Given the description of an element on the screen output the (x, y) to click on. 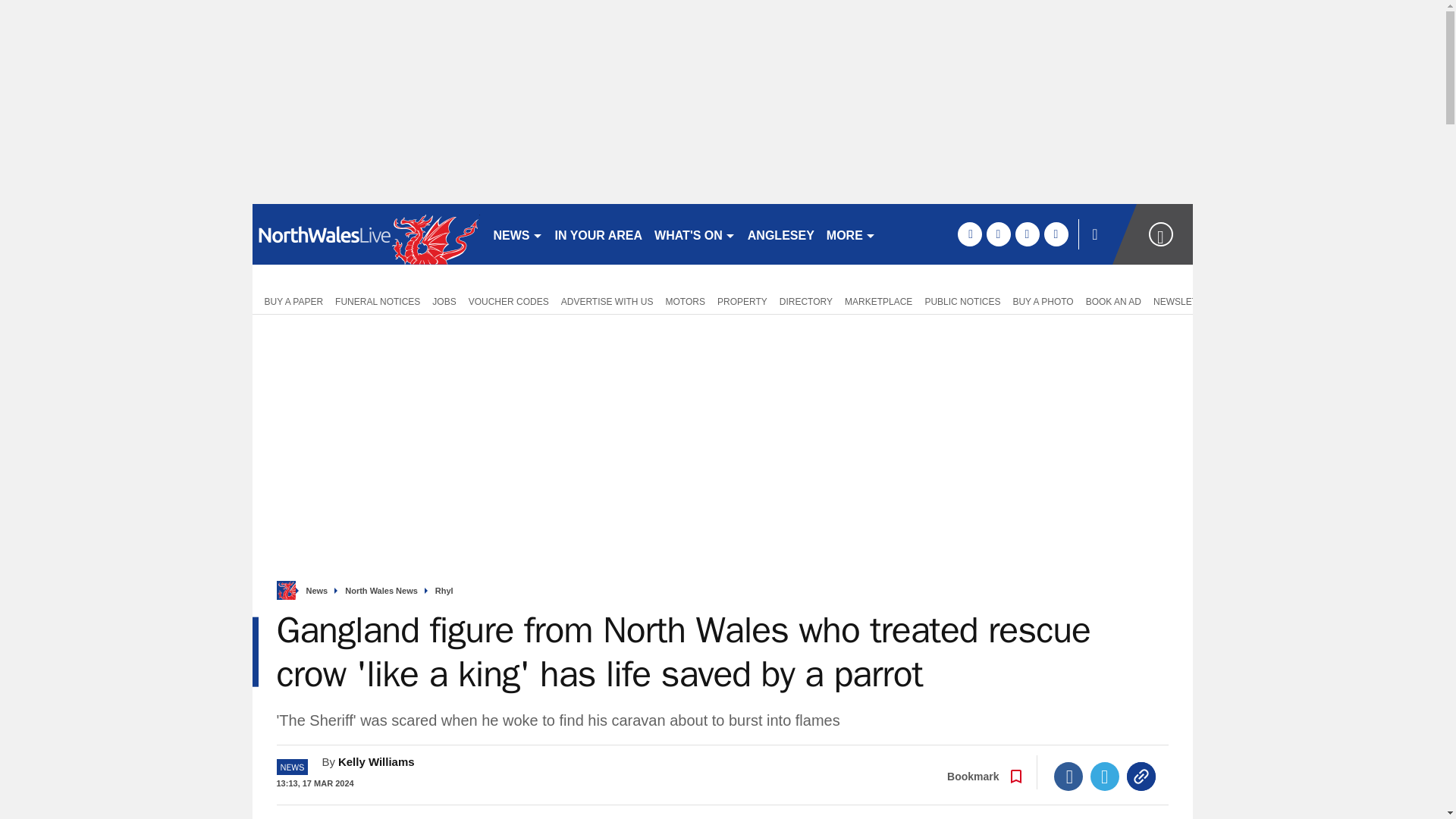
northwales (365, 233)
instagram (1055, 233)
BUY A PAPER (290, 300)
facebook (968, 233)
pinterest (1026, 233)
Facebook (1068, 776)
MOTORS (685, 300)
Twitter (1104, 776)
PROPERTY (742, 300)
ADVERTISE WITH US (606, 300)
